Given the description of an element on the screen output the (x, y) to click on. 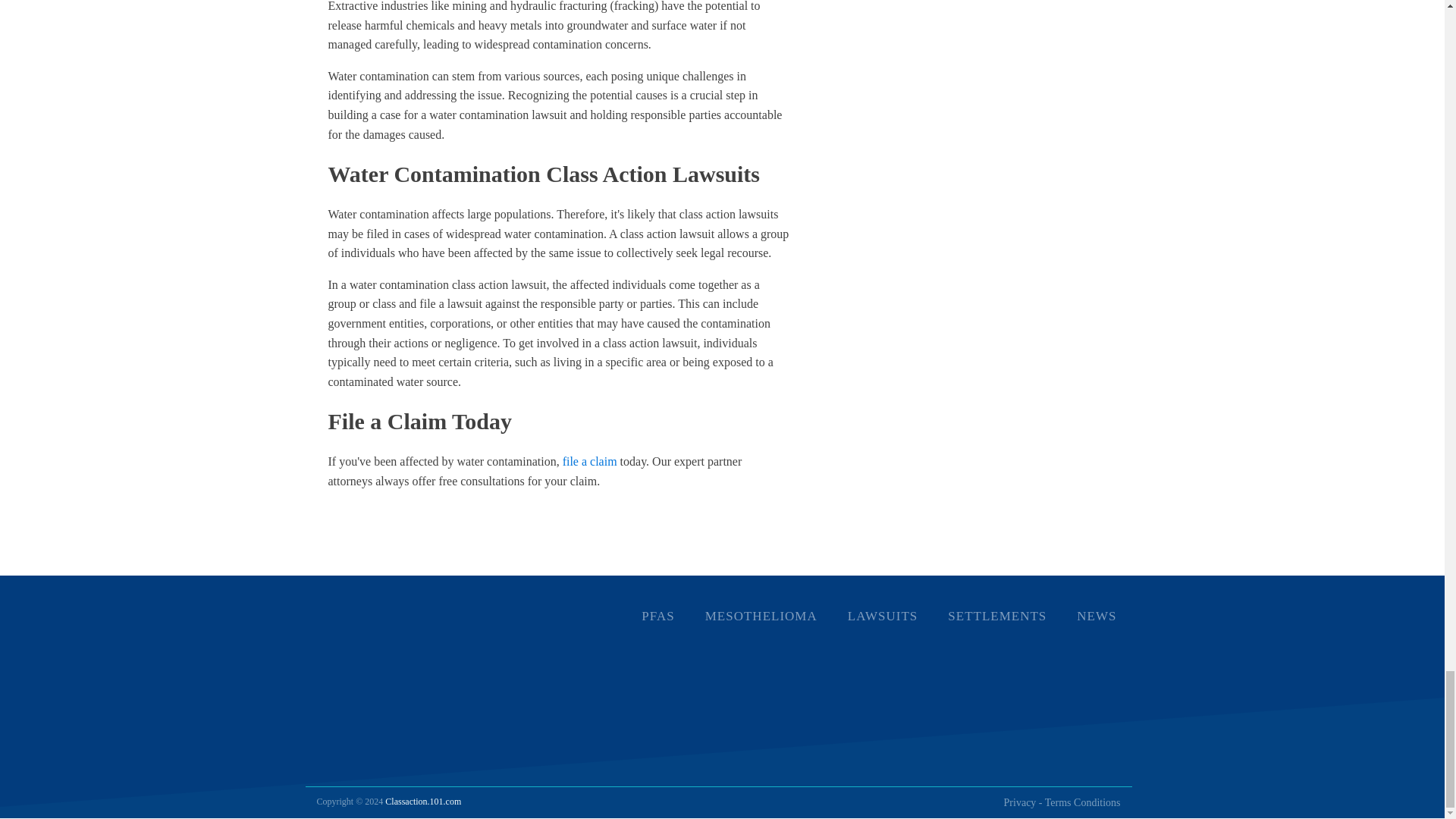
SETTLEMENTS (997, 615)
Privacy - Terms Conditions (1062, 802)
MESOTHELIOMA (761, 615)
LAWSUITS (882, 615)
file a claim (589, 461)
NEWS (1096, 615)
PFAS (657, 615)
